Given the description of an element on the screen output the (x, y) to click on. 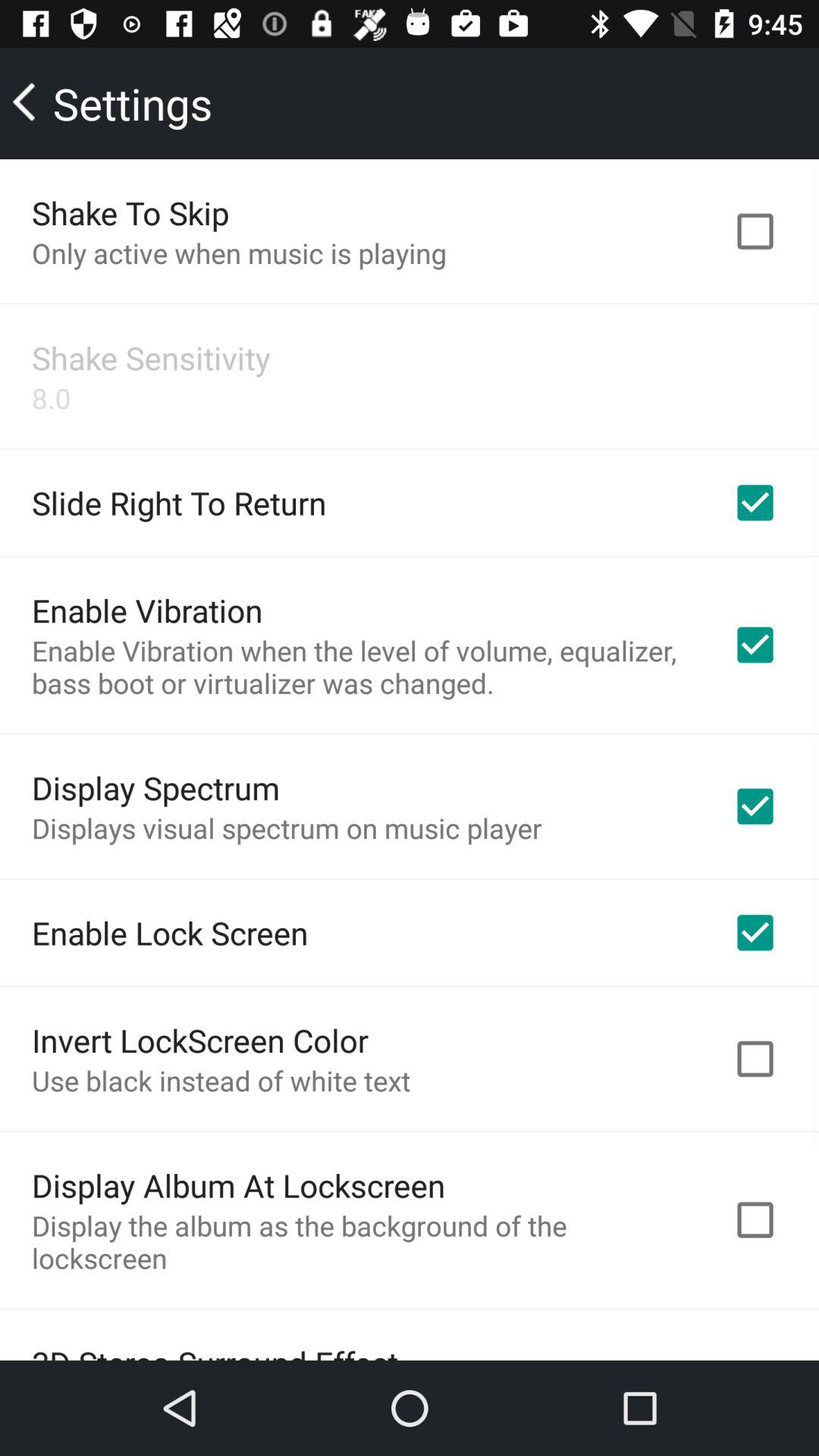
jump to the display spectrum icon (155, 787)
